Given the description of an element on the screen output the (x, y) to click on. 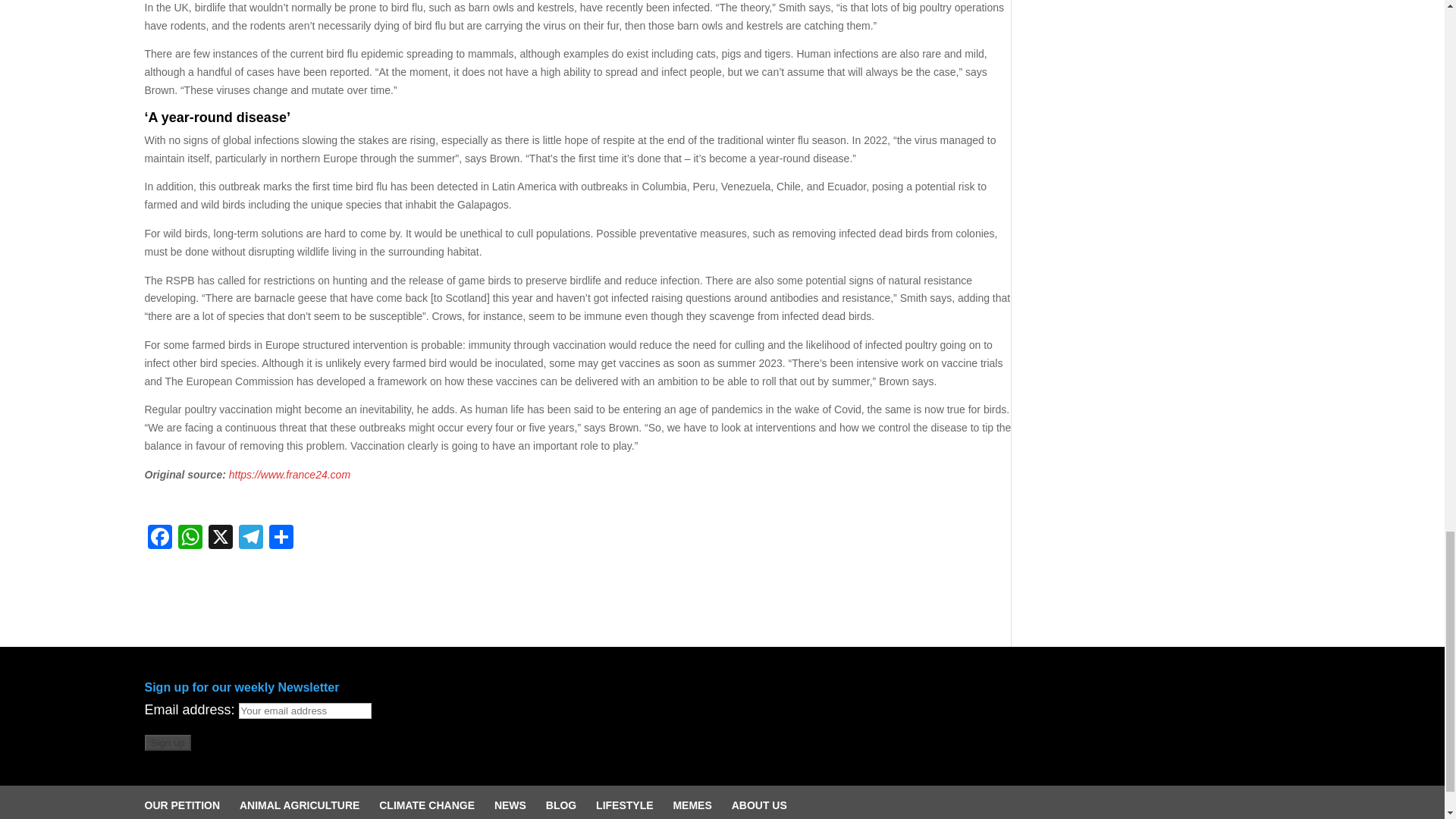
Sign up (167, 742)
X (219, 538)
Facebook (159, 538)
WhatsApp (189, 538)
Telegram (249, 538)
